Given the description of an element on the screen output the (x, y) to click on. 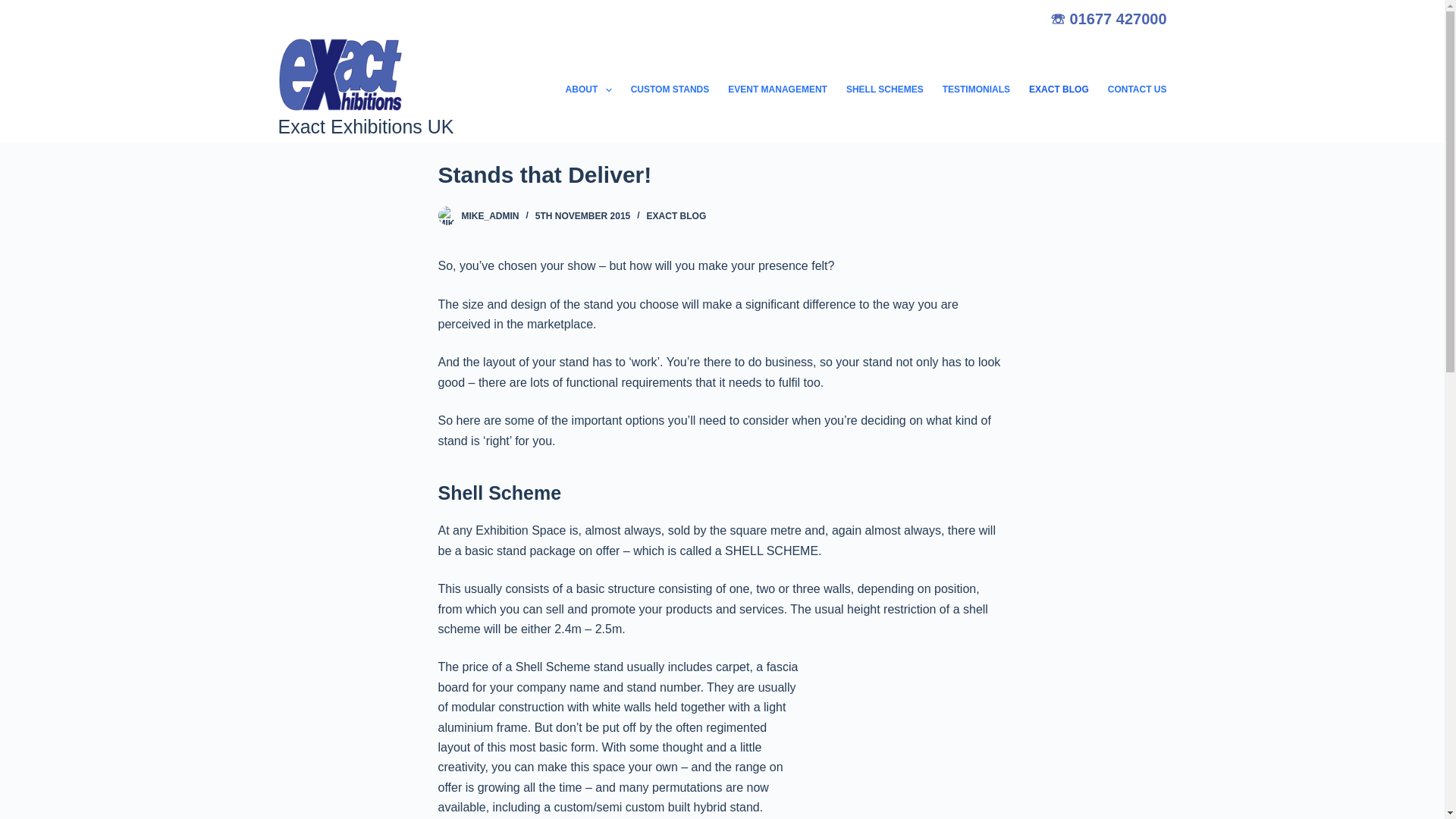
Skip to content (15, 7)
CUSTOM STANDS (670, 89)
Exact Exhibitions UK (365, 126)
Stands that Deliver! (722, 174)
EVENT MANAGEMENT (778, 89)
SHELL SCHEMES (884, 89)
EXACT BLOG (676, 215)
